Given the description of an element on the screen output the (x, y) to click on. 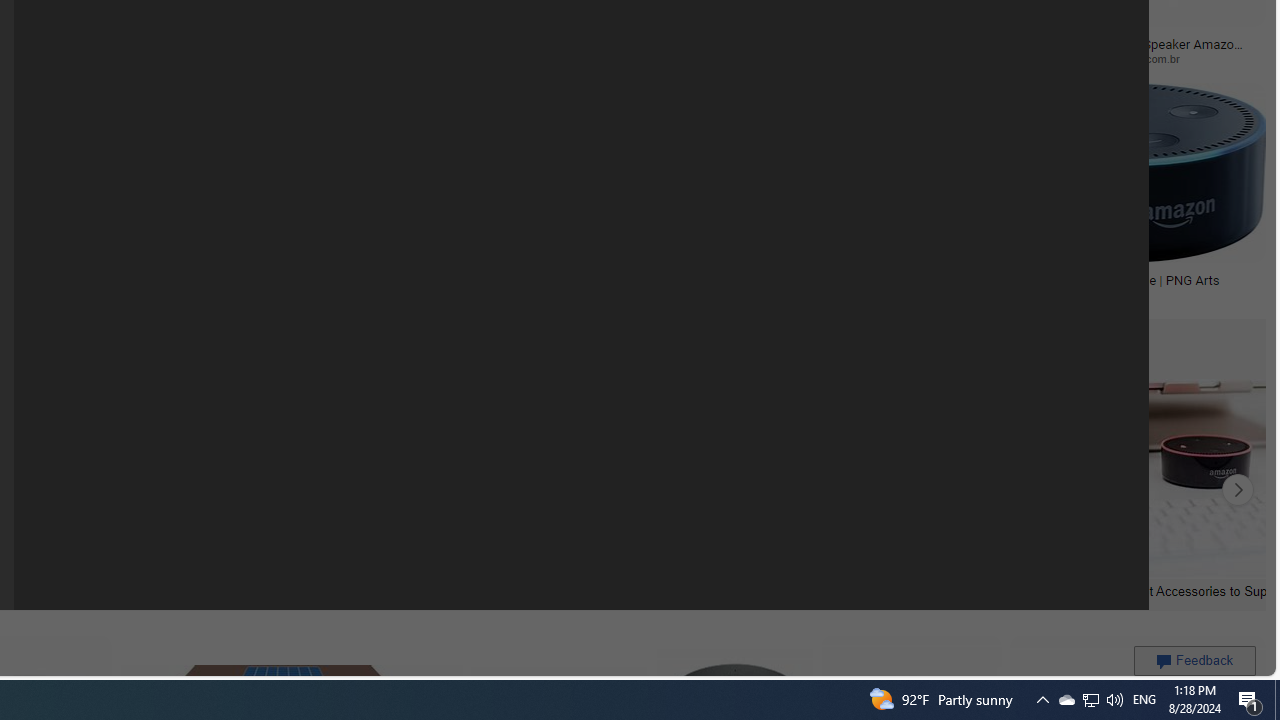
Amazonecho Dot With Alexa (Gen 4)pnghq.comSave (840, 196)
Alexa Dot Transparent Image | PNG Arts (1104, 279)
Image result for Amazon Echo Dot PNG (1122, 172)
inpower.com.br (1181, 58)
